Given the description of an element on the screen output the (x, y) to click on. 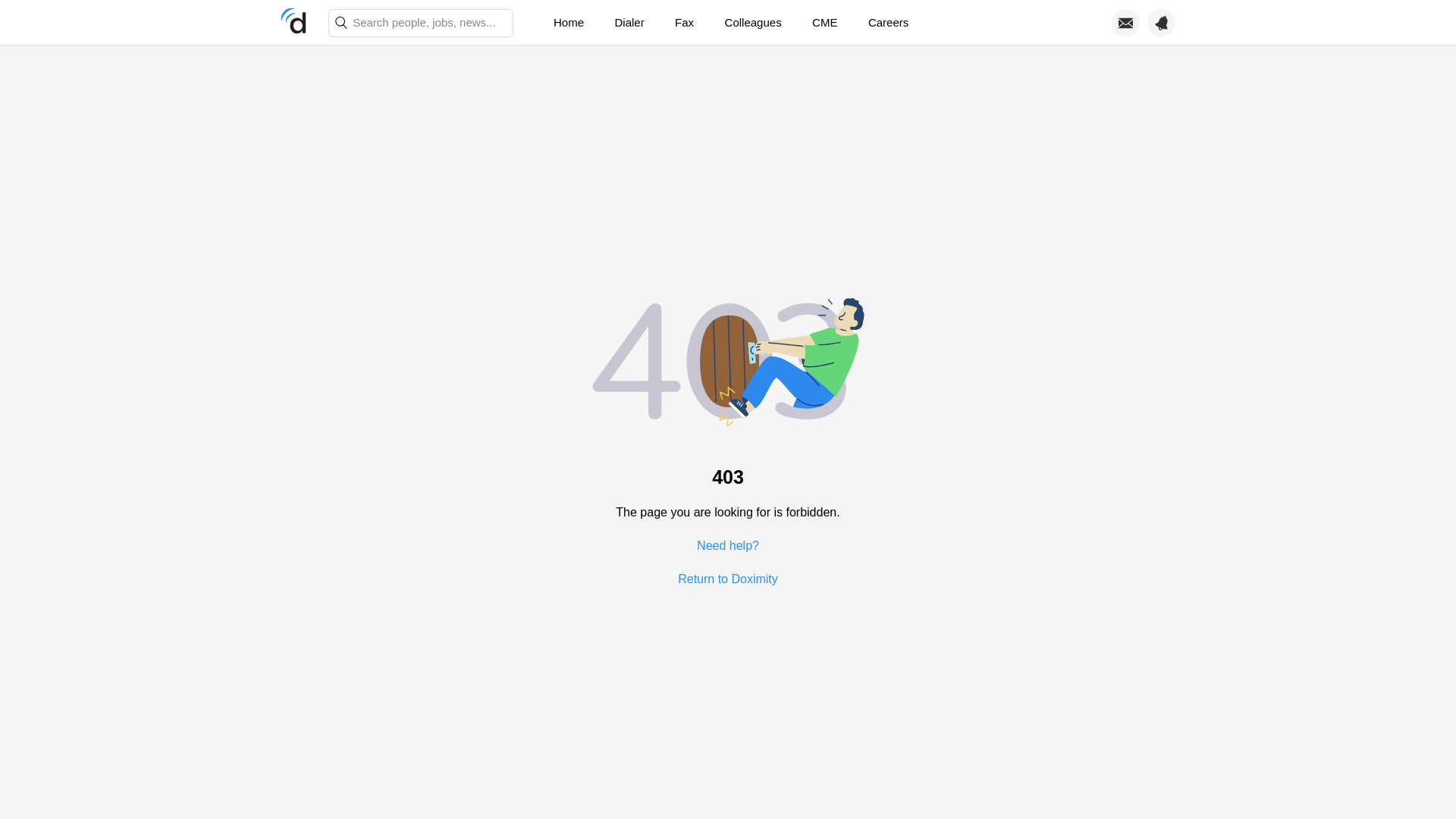
Need help? (727, 544)
Fax (684, 22)
Dialer (628, 22)
Home (568, 22)
Colleagues (752, 22)
Careers (887, 22)
Search people, jobs, news... (421, 22)
Return to Doximity (727, 577)
CME (823, 22)
